Given the description of an element on the screen output the (x, y) to click on. 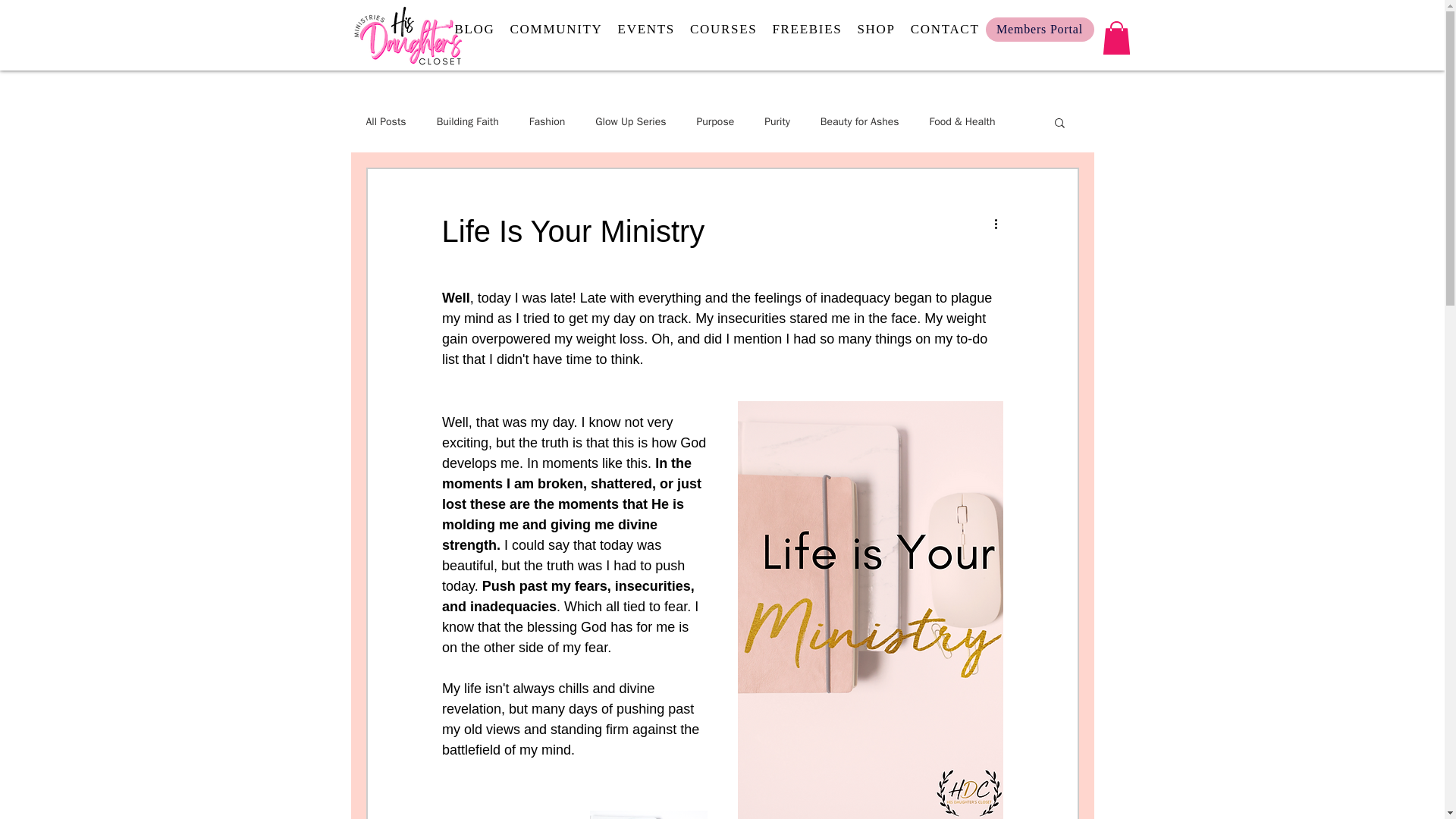
BLOG (474, 29)
CONTACT (944, 29)
Purpose (714, 121)
COURSES (723, 29)
Beauty for Ashes (860, 121)
Fashion (547, 121)
Glow Up Series (630, 121)
FREEBIES (806, 29)
COMMUNITY (556, 29)
Building Faith (467, 121)
All Posts (385, 121)
Purity (777, 121)
EVENTS (646, 29)
Members Portal (1039, 29)
SHOP (876, 29)
